Given the description of an element on the screen output the (x, y) to click on. 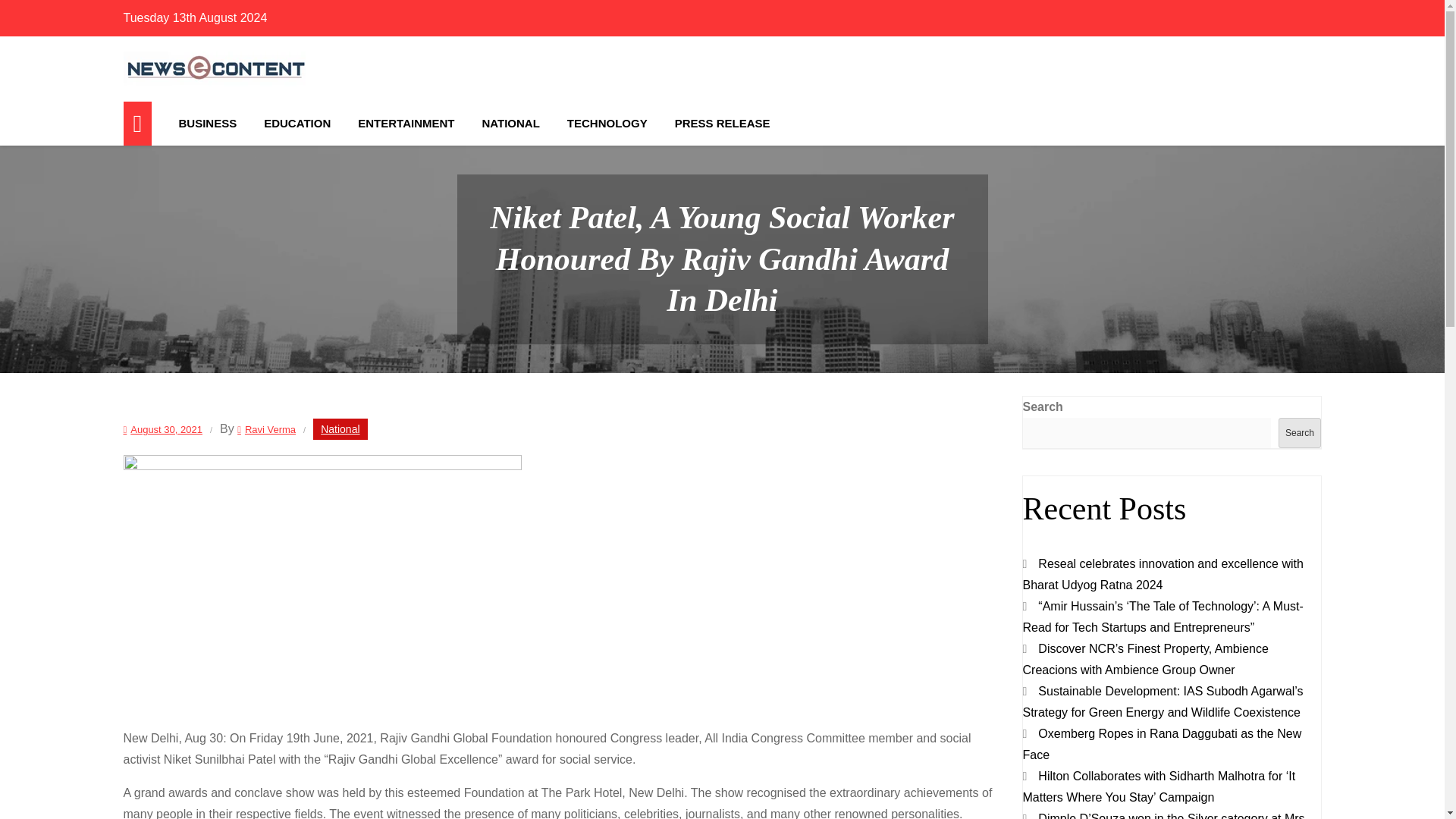
TECHNOLOGY (607, 123)
EDUCATION (296, 123)
Oxemberg Ropes in Rana Daggubati as the New Face (1161, 744)
Search (1299, 432)
August 30, 2021 (162, 429)
PRESS RELEASE (722, 123)
NATIONAL (510, 123)
BUSINESS (207, 123)
Ravi Verma (266, 429)
